Given the description of an element on the screen output the (x, y) to click on. 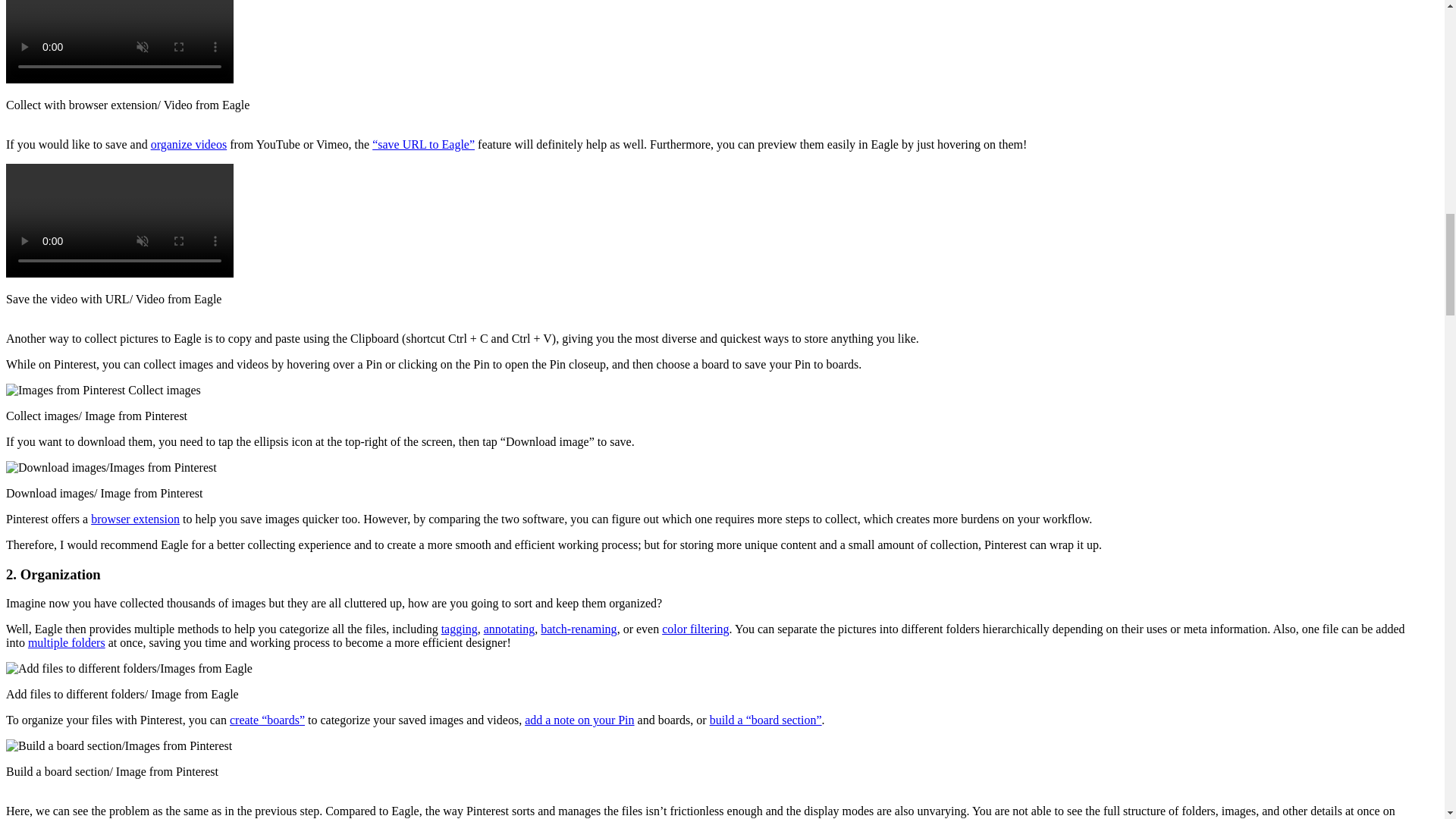
batch-renaming (577, 628)
tagging (459, 628)
organize videos (189, 144)
add a note on your Pin (578, 719)
multiple folders (65, 642)
browser extension (134, 518)
color filtering (695, 628)
annotating (509, 628)
